Given the description of an element on the screen output the (x, y) to click on. 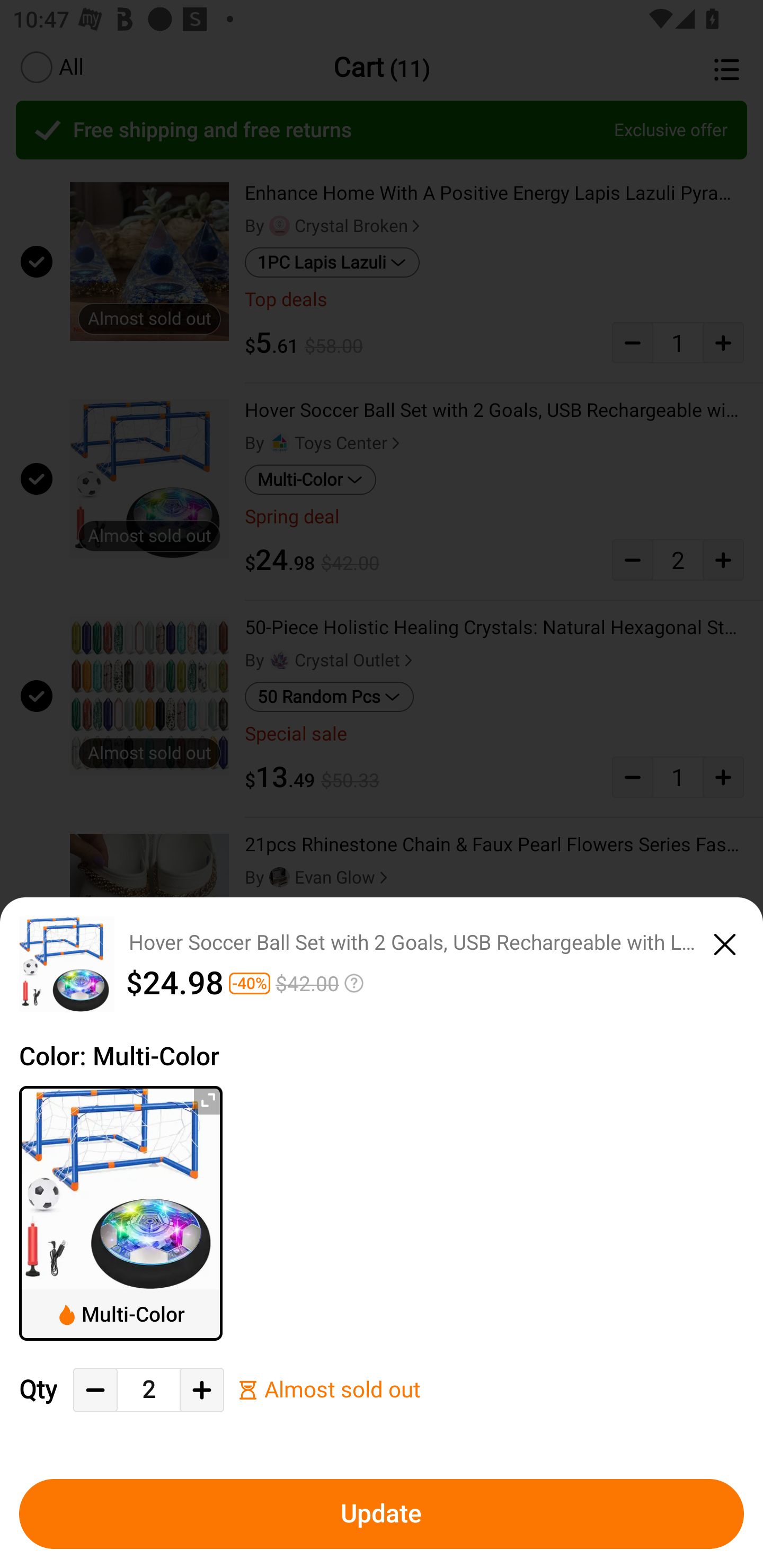
close (724, 941)
Multi-Color ￼Multi-Color (120, 1213)
Decrease Quantity Button (95, 1389)
Add Quantity Button (201, 1389)
2 (148, 1389)
Update (381, 1513)
